Given the description of an element on the screen output the (x, y) to click on. 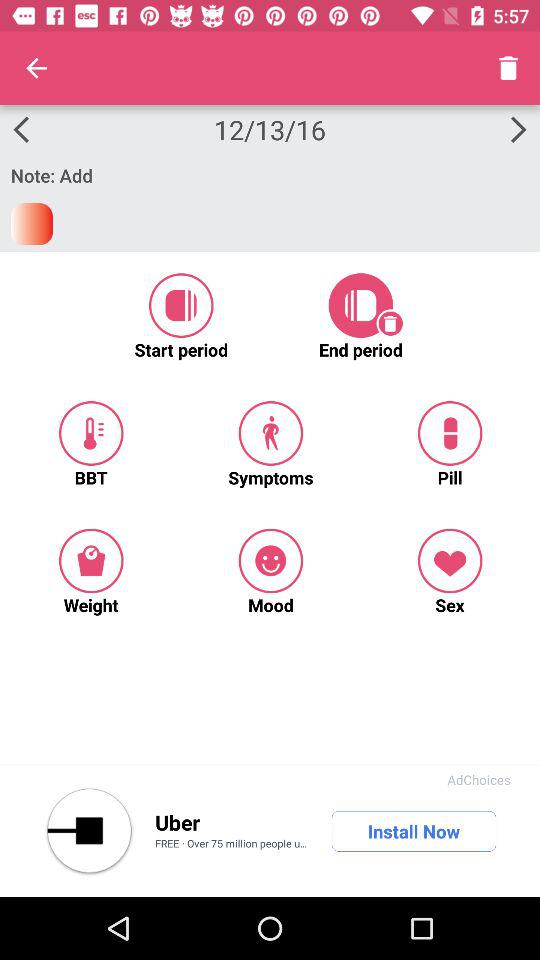
select the install now item (413, 831)
